Given the description of an element on the screen output the (x, y) to click on. 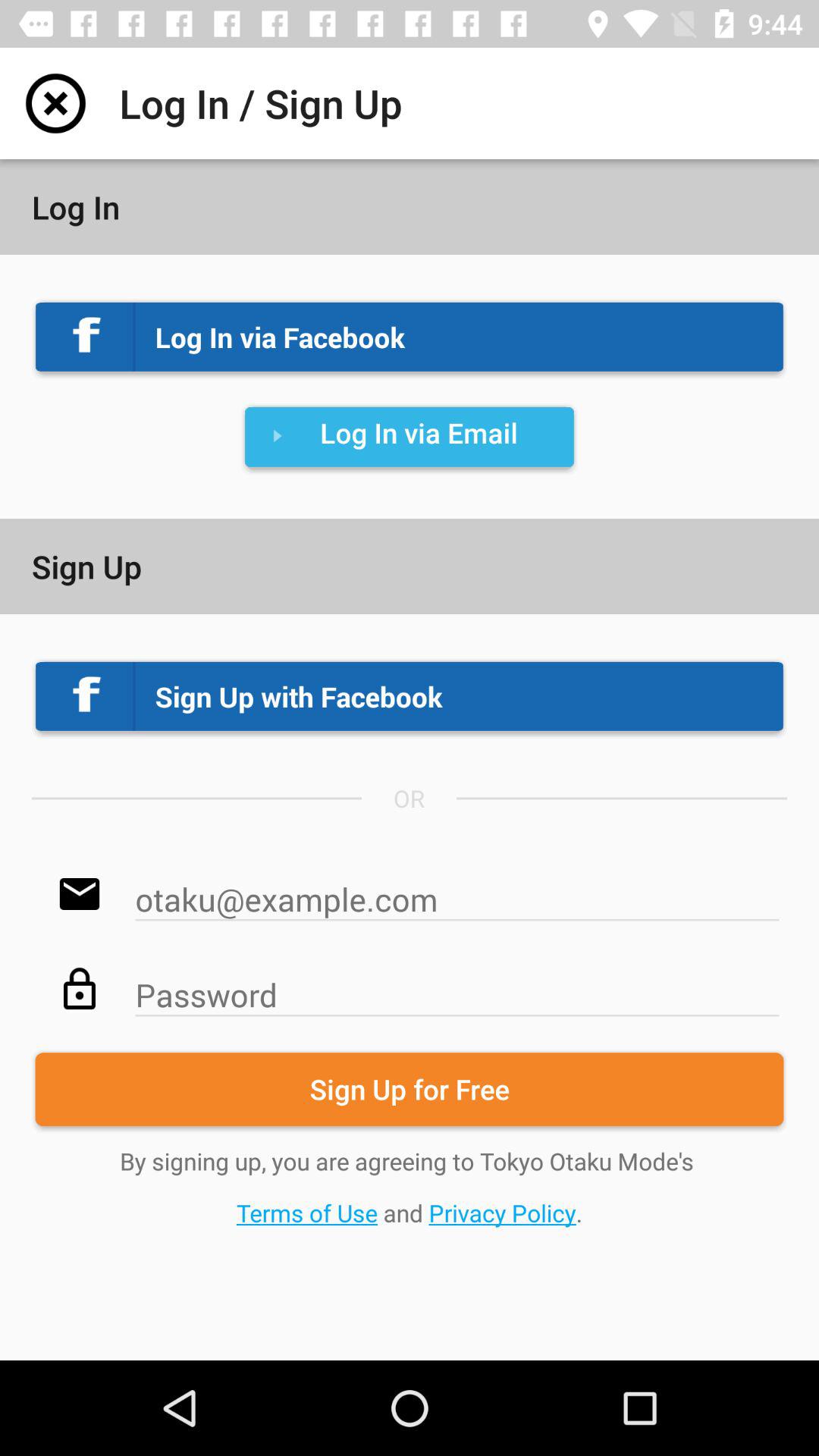
enter email address (457, 891)
